Given the description of an element on the screen output the (x, y) to click on. 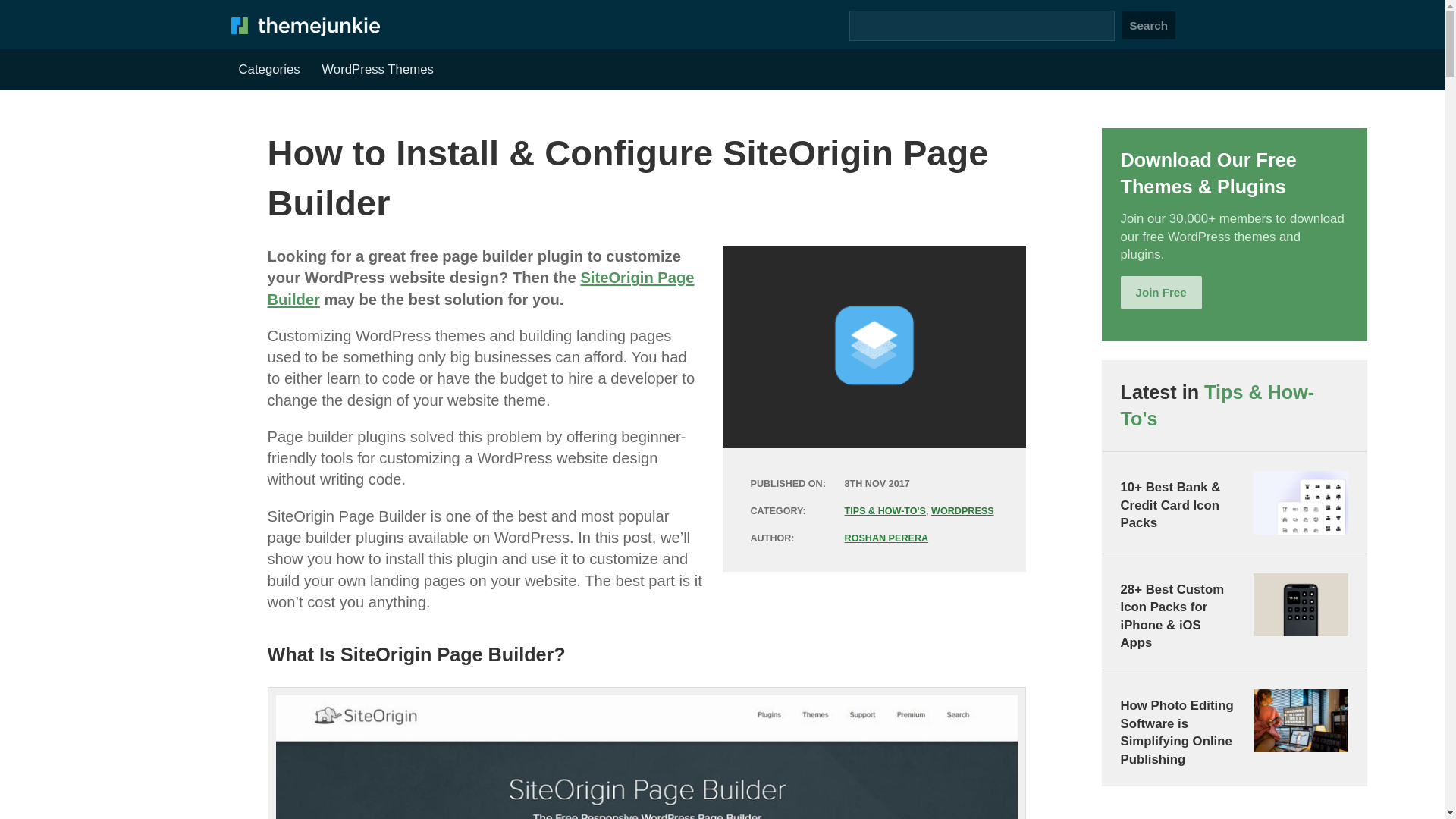
Categories (268, 69)
Posts by Roshan Perera (886, 538)
WordPress Themes (377, 69)
Search (1148, 25)
Search (1148, 25)
